Given the description of an element on the screen output the (x, y) to click on. 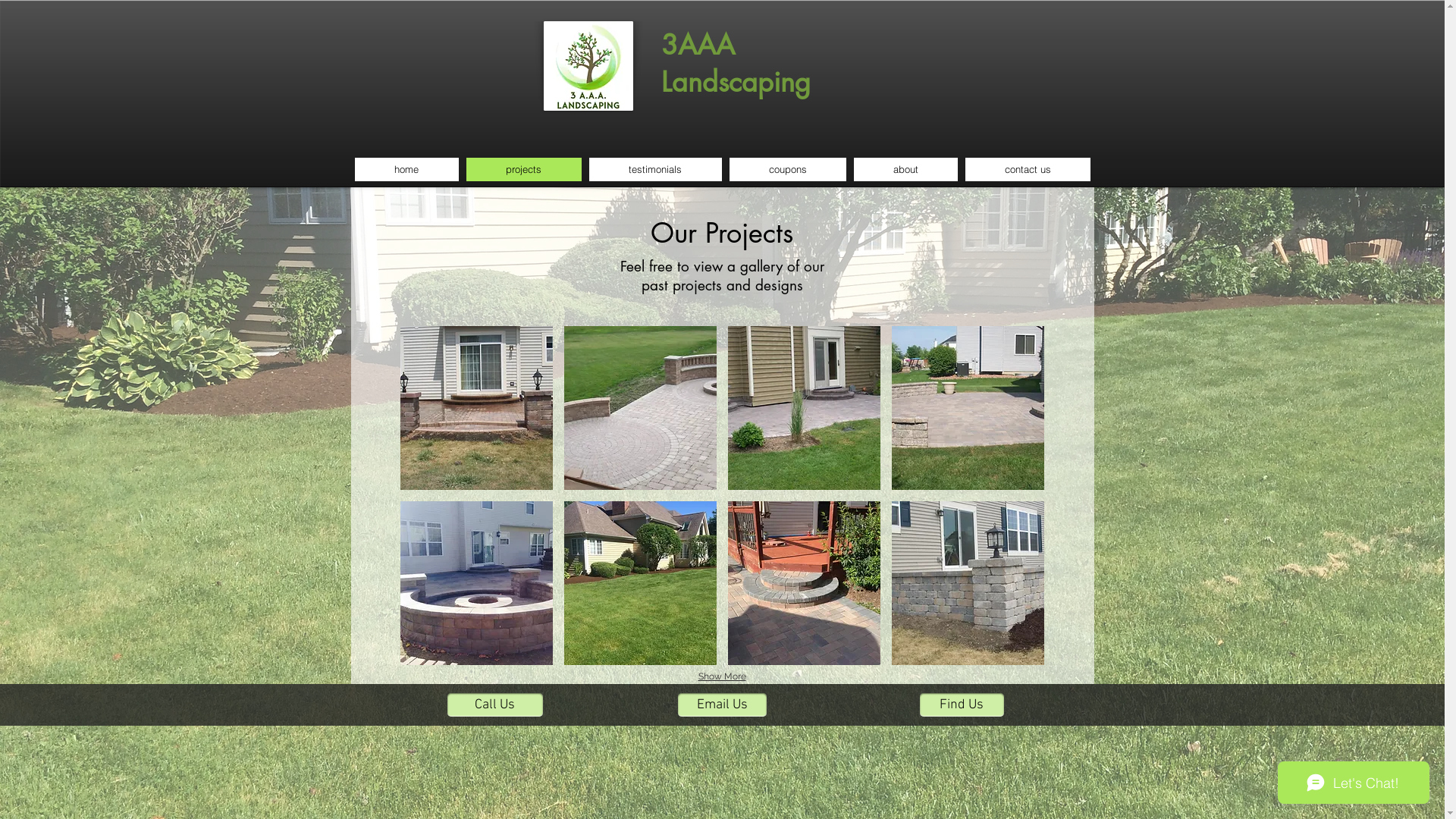
home Element type: text (406, 169)
Find Us Element type: text (961, 704)
Email Us Element type: text (721, 704)
Call Us Element type: text (494, 704)
testimonials Element type: text (654, 169)
3AAA Landscaping Element type: text (735, 66)
Show More Element type: text (721, 676)
projects Element type: text (522, 169)
coupons Element type: text (787, 169)
about Element type: text (905, 169)
contact us Element type: text (1026, 169)
